Given the description of an element on the screen output the (x, y) to click on. 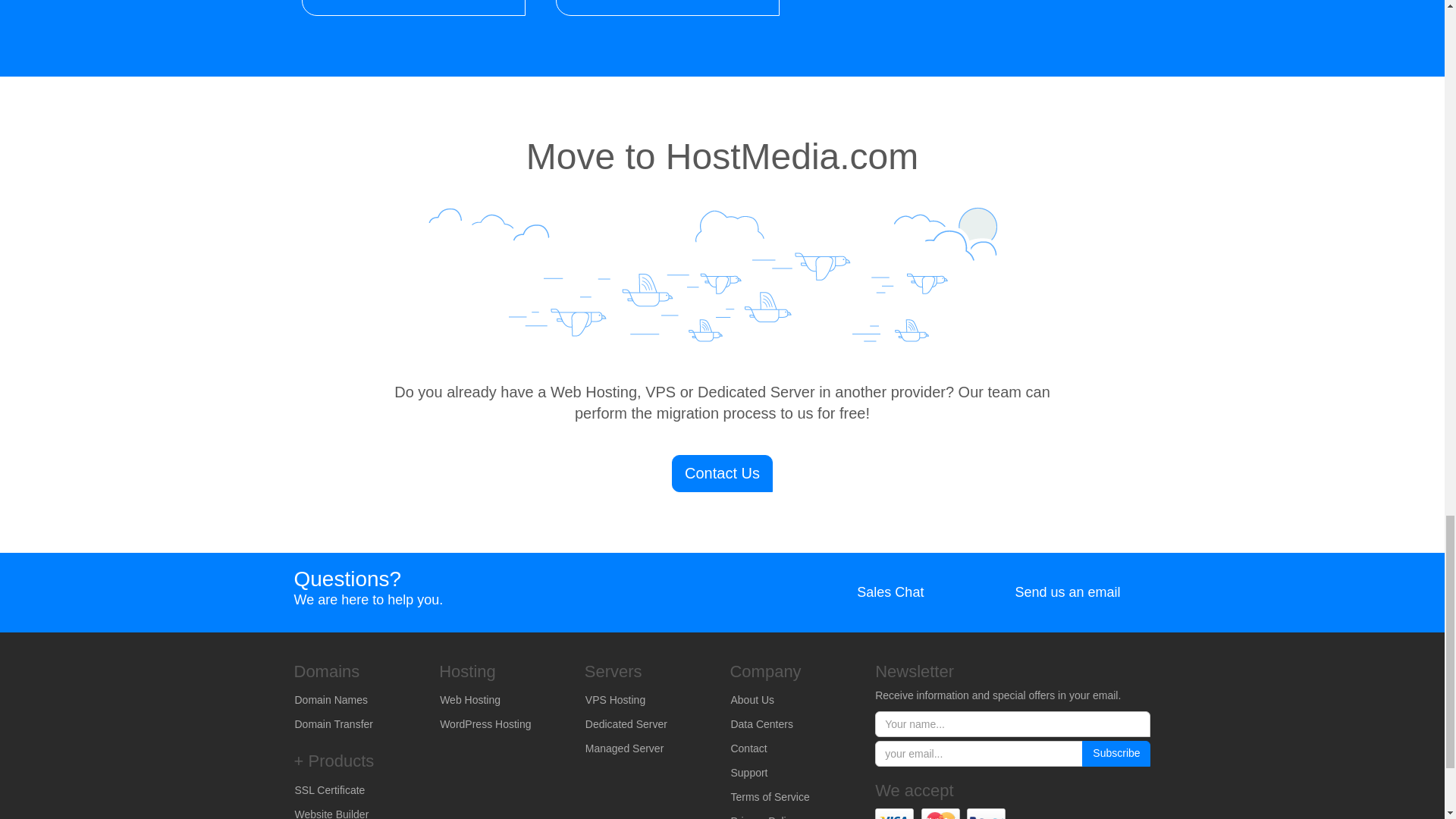
Transfer your domain to HostMedia. (355, 724)
Send us an email (1051, 593)
Domain Names (355, 700)
Sales Chat (874, 593)
SSL Certificate (355, 790)
Domain Transfer (355, 724)
Search and Register your domain today! (355, 700)
Send us an email (1051, 593)
Contact Us (722, 473)
